Given the description of an element on the screen output the (x, y) to click on. 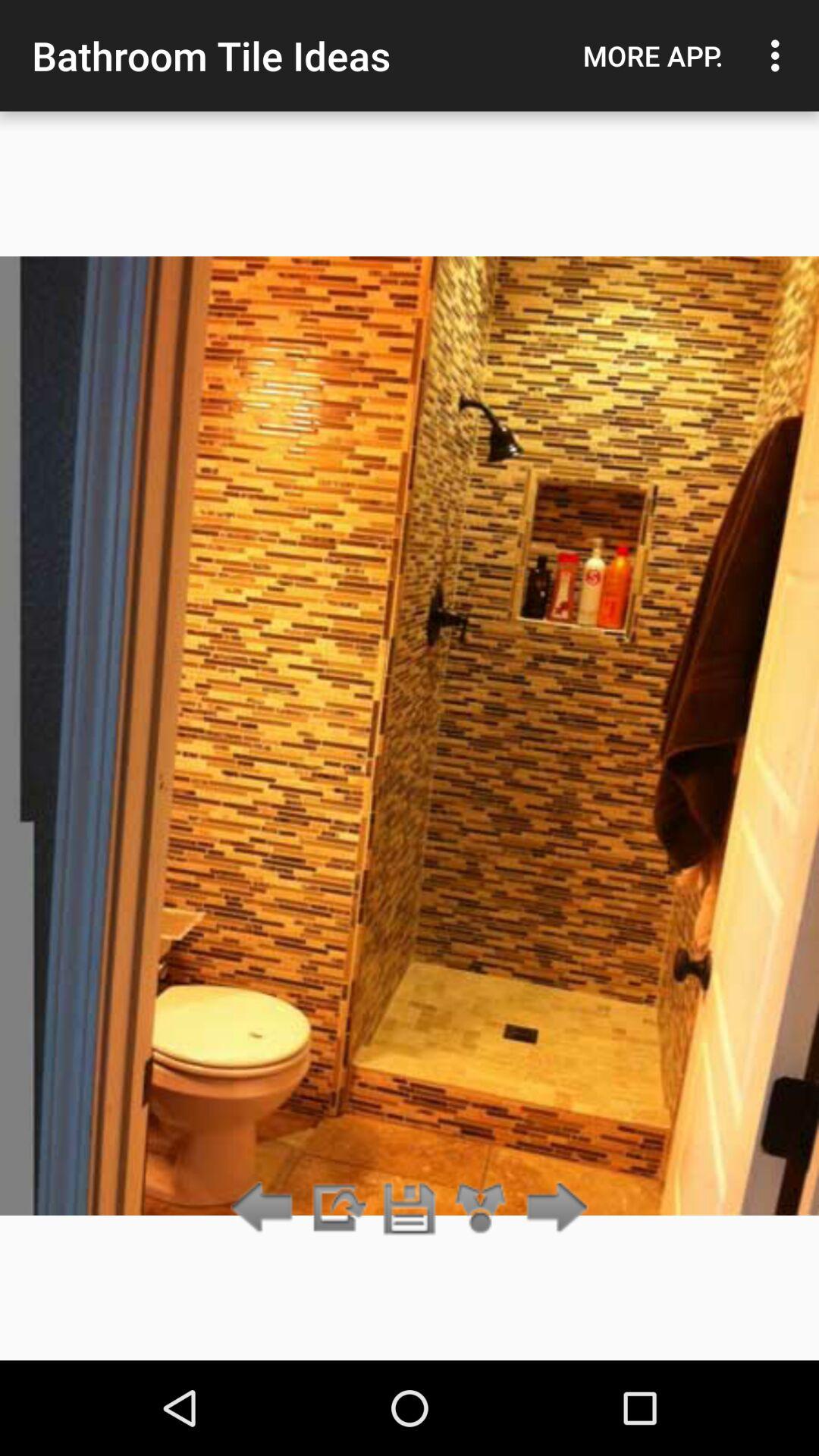
flip to more app. (653, 55)
